Given the description of an element on the screen output the (x, y) to click on. 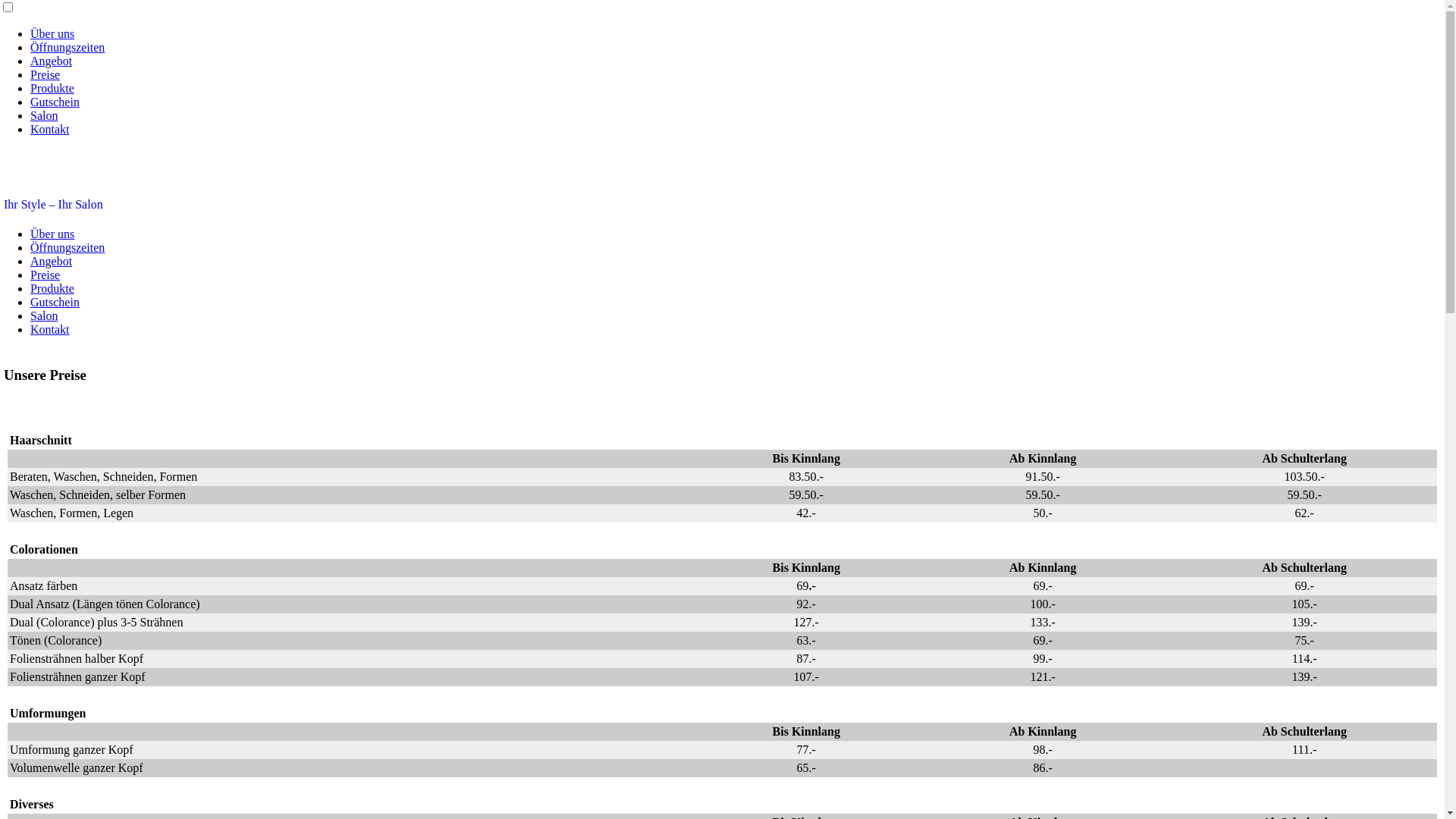
Produkte Element type: text (52, 87)
Kontakt Element type: text (49, 128)
Gutschein Element type: text (54, 301)
Gutschein Element type: text (54, 101)
Salon Element type: text (43, 315)
Salon Element type: text (43, 115)
Angebot Element type: text (51, 60)
Kontakt Element type: text (49, 329)
Preise Element type: text (44, 274)
Preise Element type: text (44, 74)
Produkte Element type: text (52, 288)
Angebot Element type: text (51, 260)
